Given the description of an element on the screen output the (x, y) to click on. 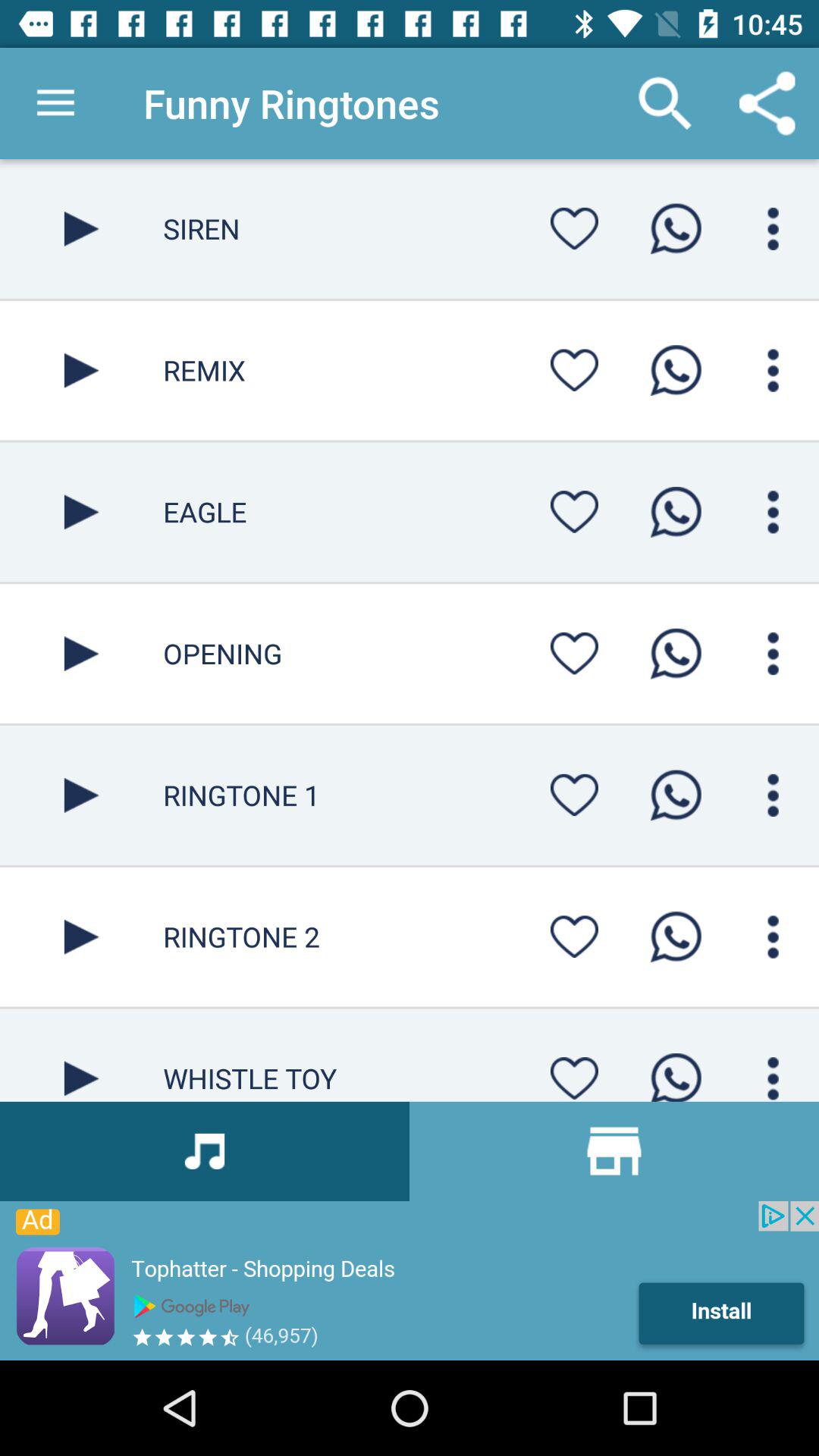
use for whatsapp (675, 228)
